Given the description of an element on the screen output the (x, y) to click on. 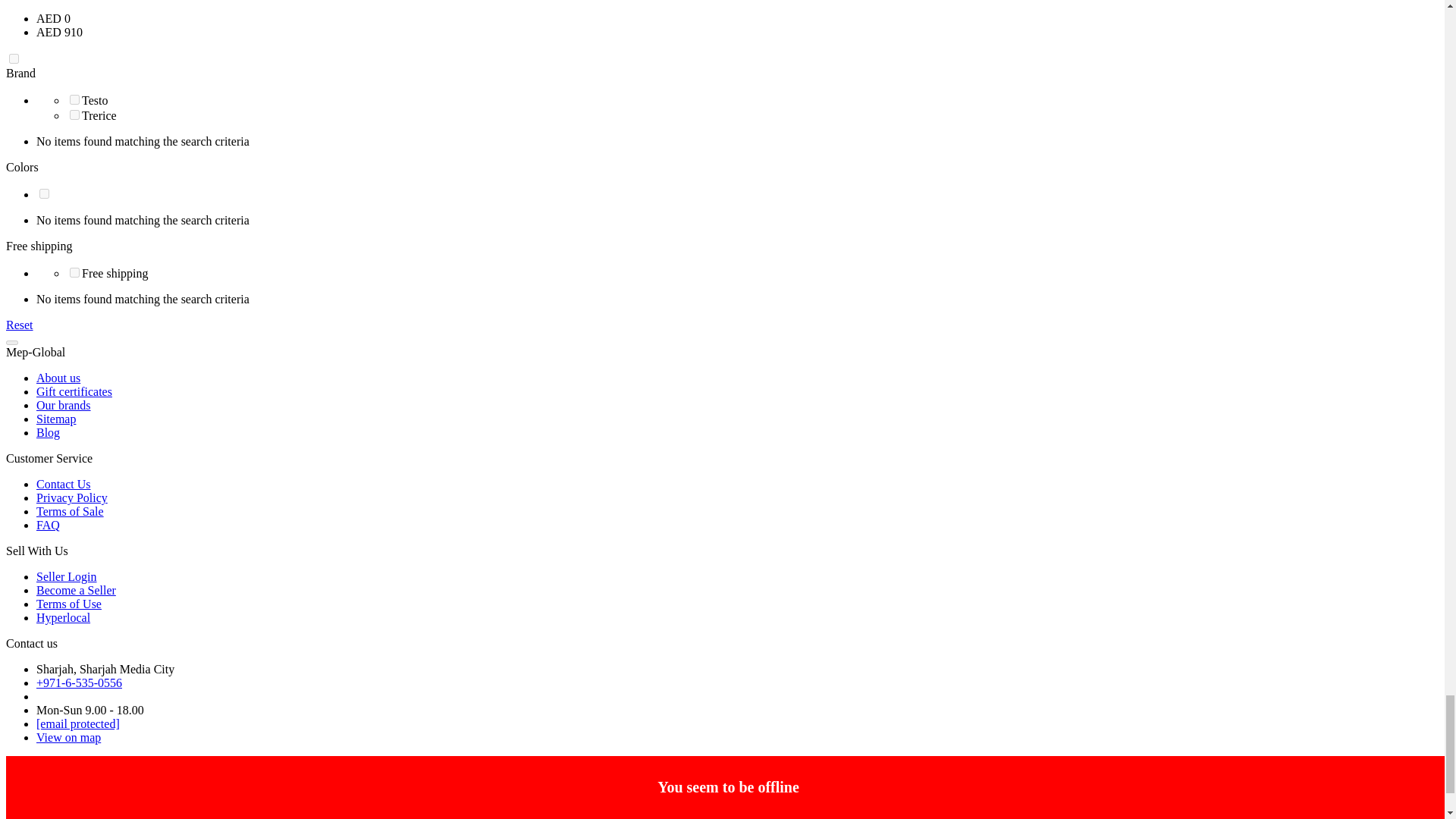
8350 (74, 114)
9413 (74, 99)
2612 (44, 194)
Y (74, 272)
